Given the description of an element on the screen output the (x, y) to click on. 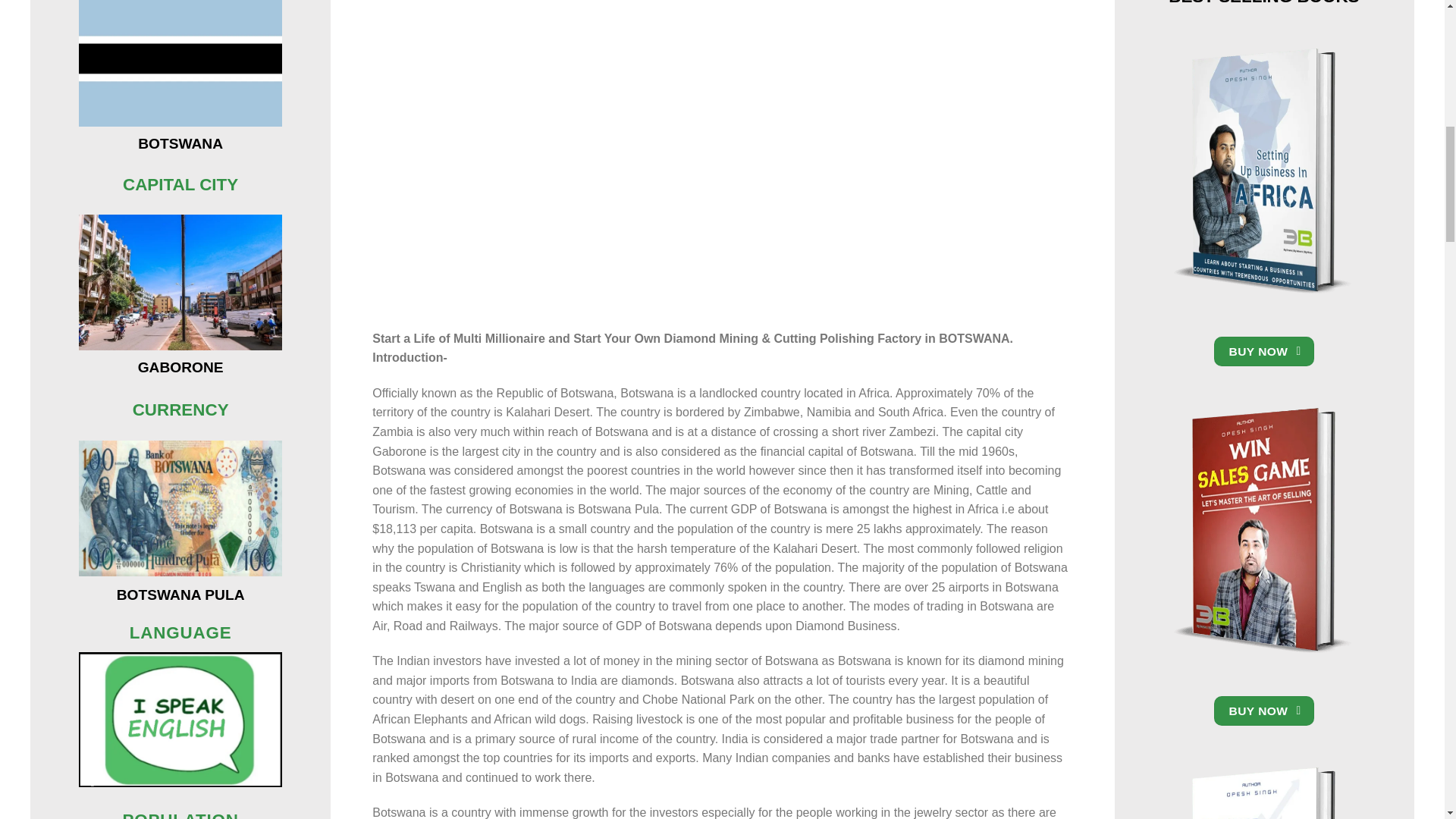
BUY NOW (1264, 351)
BUY NOW (1264, 710)
